Given the description of an element on the screen output the (x, y) to click on. 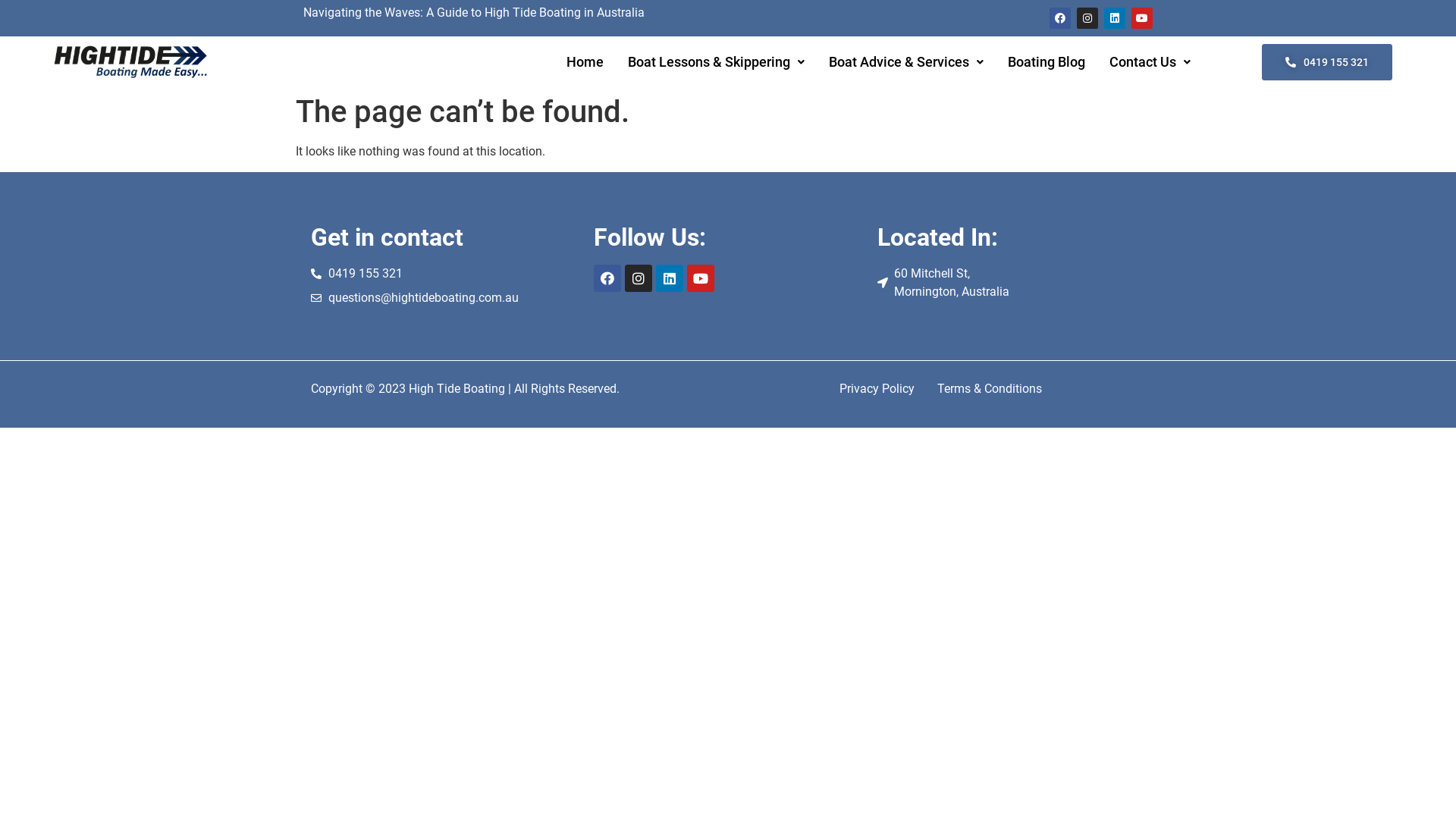
Terms & Conditions Element type: text (989, 388)
Home Element type: text (584, 62)
Privacy Policy Element type: text (875, 388)
Contact Us Element type: text (1149, 62)
0419 155 321 Element type: text (444, 273)
60 Mitchell St,
Mornington, Australia Element type: text (1011, 282)
0419 155 321 Element type: text (1326, 61)
questions@hightideboating.com.au Element type: text (444, 297)
Boat Lessons & Skippering Element type: text (715, 62)
Boating Blog Element type: text (1046, 62)
Boat Advice & Services Element type: text (905, 62)
